Given the description of an element on the screen output the (x, y) to click on. 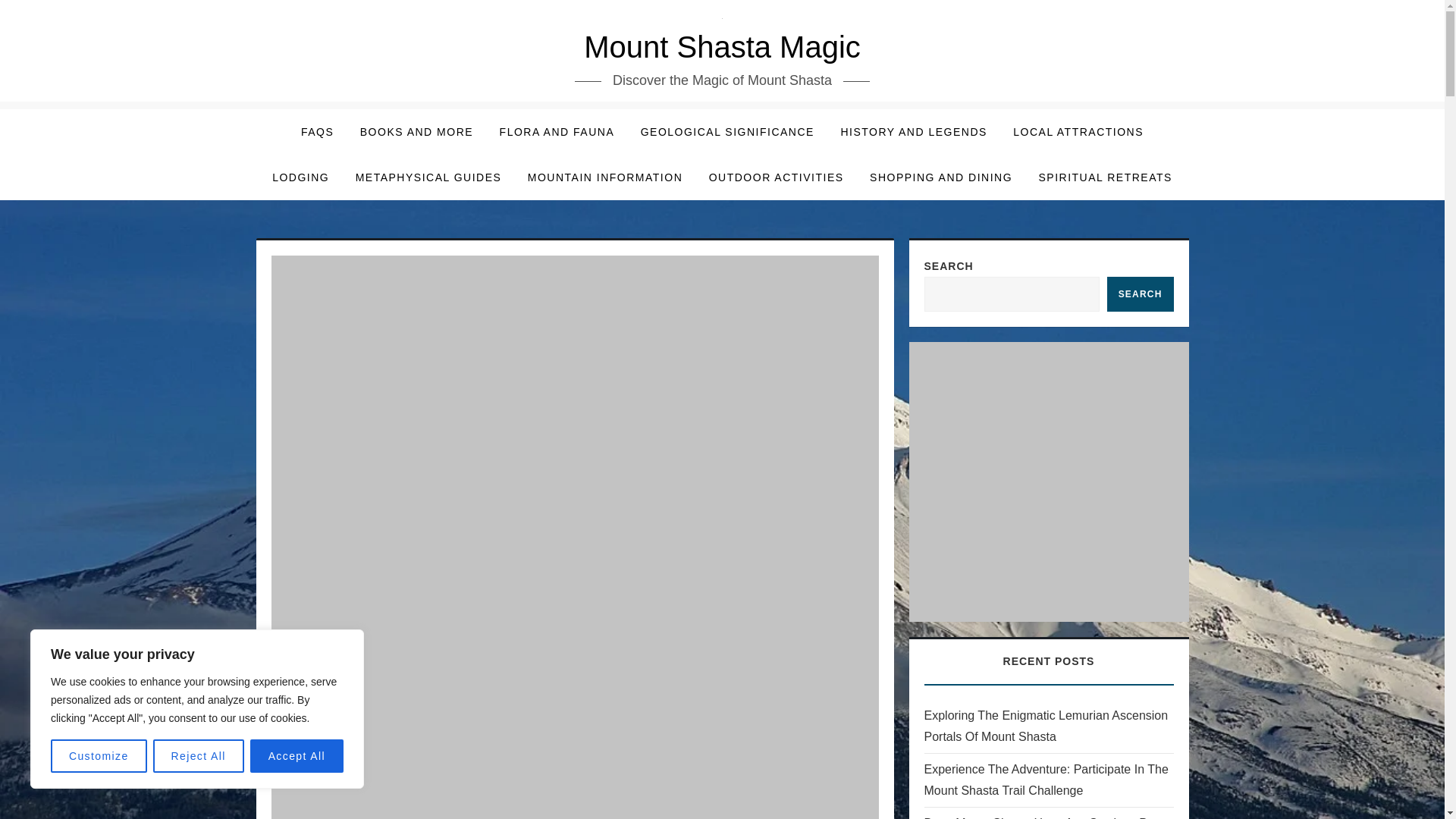
SPIRITUAL RETREATS (1104, 176)
FAQS (317, 131)
HISTORY AND LEGENDS (912, 131)
LOCAL ATTRACTIONS (1077, 131)
METAPHYSICAL GUIDES (428, 176)
Reject All (198, 756)
MOUNTAIN INFORMATION (605, 176)
OUTDOOR ACTIVITIES (776, 176)
LODGING (300, 176)
FLORA AND FAUNA (556, 131)
SHOPPING AND DINING (941, 176)
Customize (98, 756)
GEOLOGICAL SIGNIFICANCE (726, 131)
BOOKS AND MORE (416, 131)
Mount Shasta Magic (721, 46)
